Given the description of an element on the screen output the (x, y) to click on. 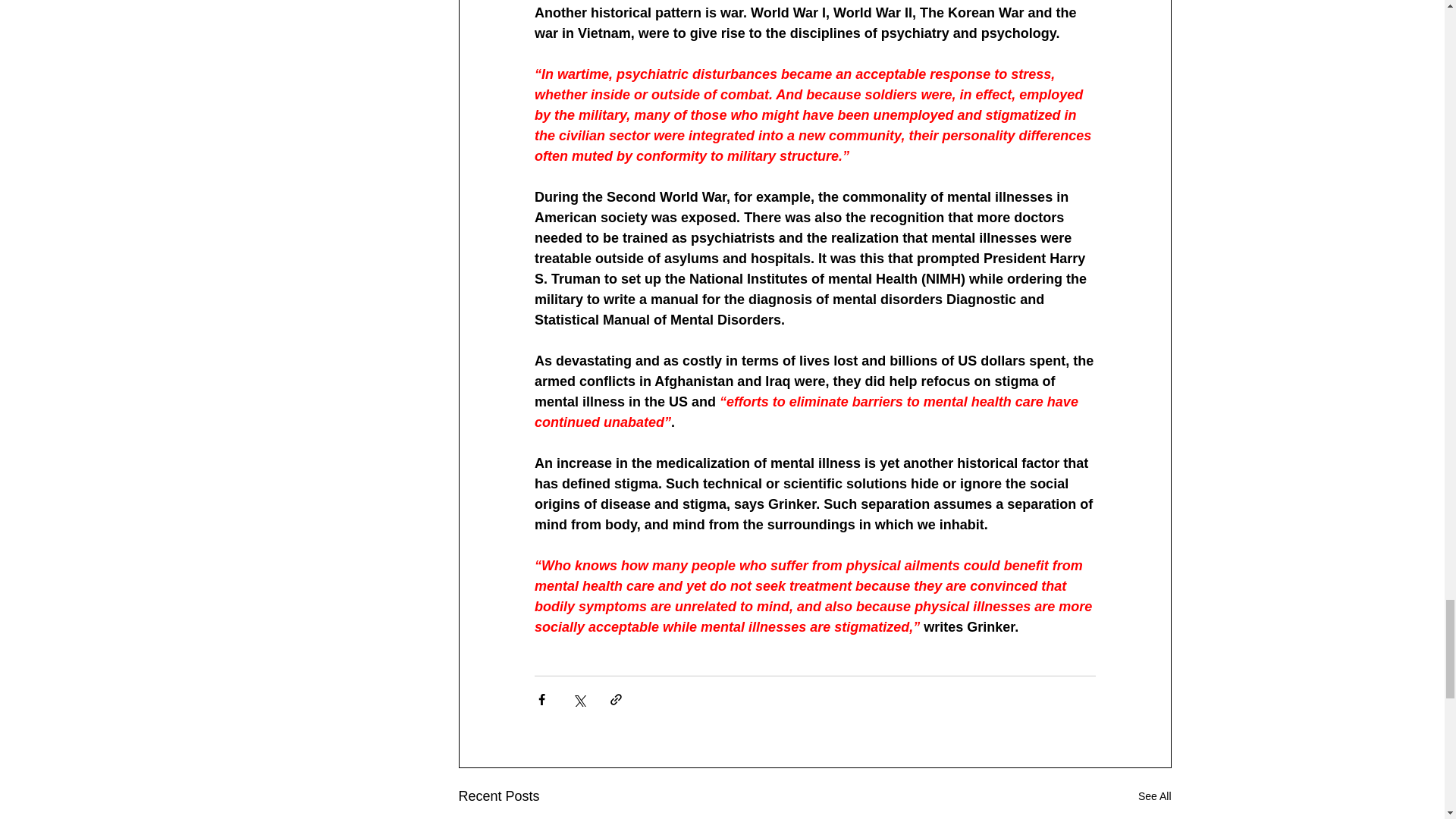
See All (1155, 796)
